Given the description of an element on the screen output the (x, y) to click on. 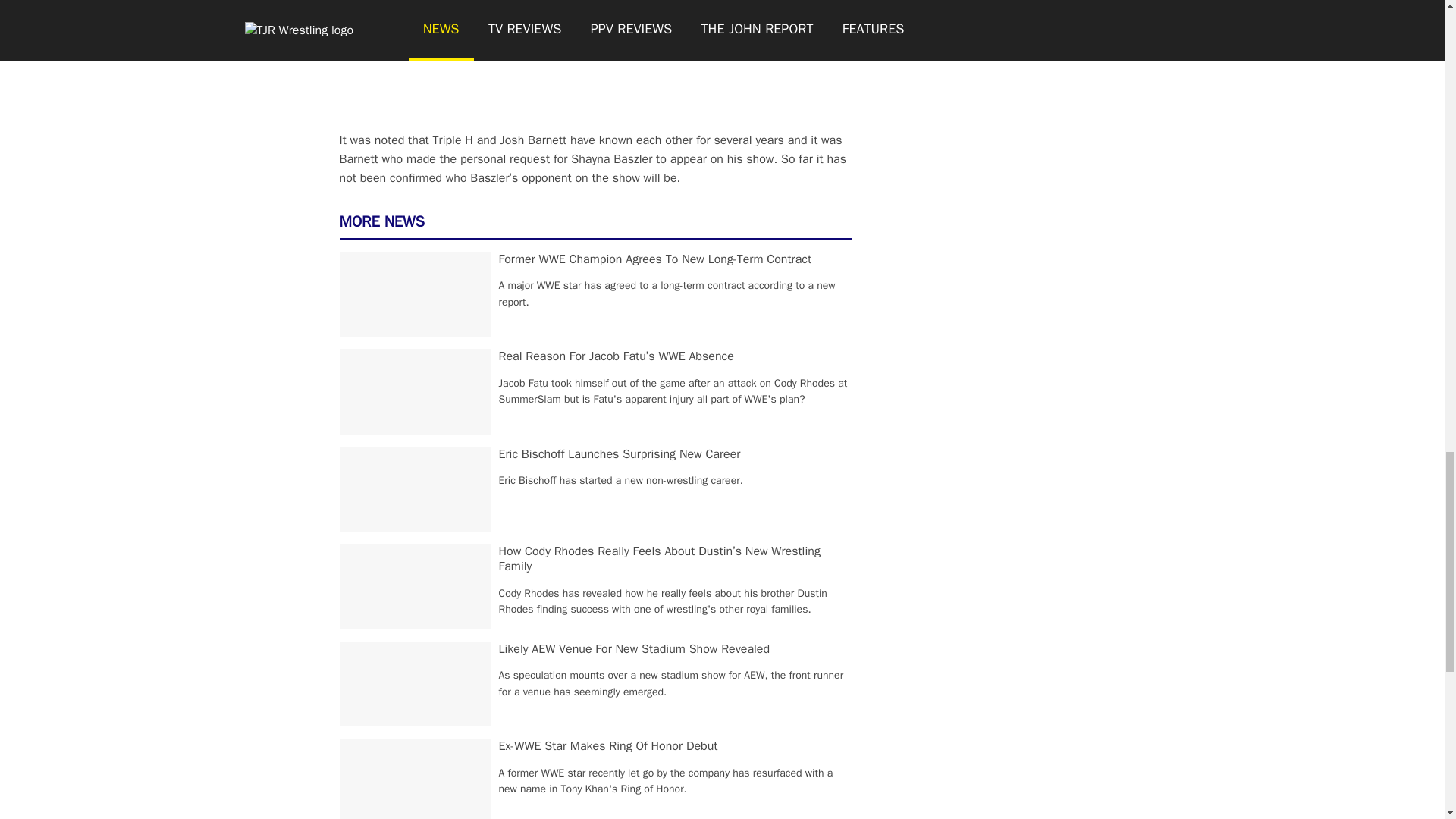
Eric Bischoff Launches Surprising New Career (620, 453)
Likely AEW Venue For New Stadium Show Revealed (634, 648)
Former WWE Champion Agrees To New Long-Term Contract (655, 258)
Ex-WWE Star Makes Ring Of Honor Debut (608, 745)
